Given the description of an element on the screen output the (x, y) to click on. 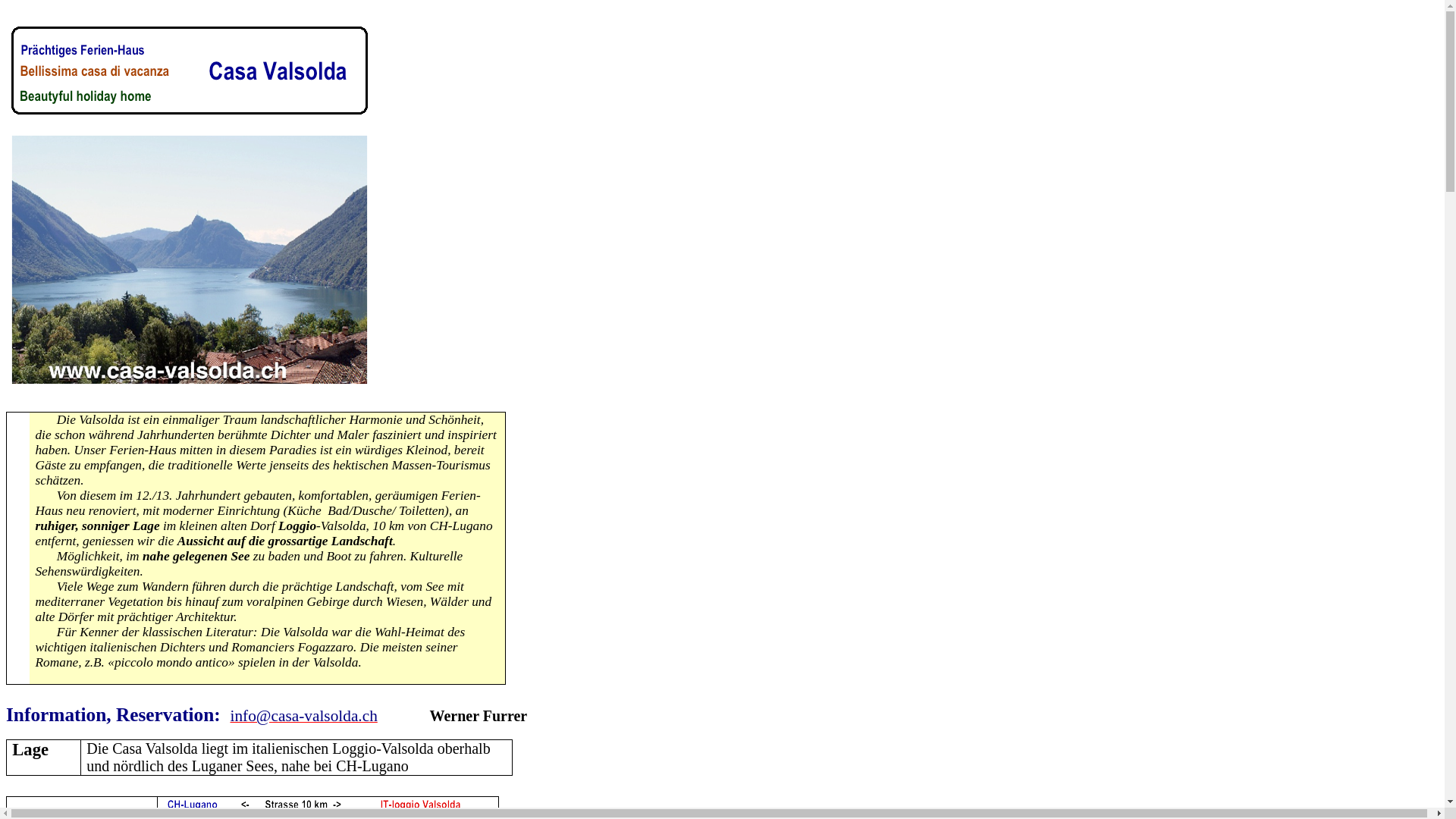
Information, Element type: text (58, 716)
info@casa-valsolda.ch Element type: text (302, 716)
